Given the description of an element on the screen output the (x, y) to click on. 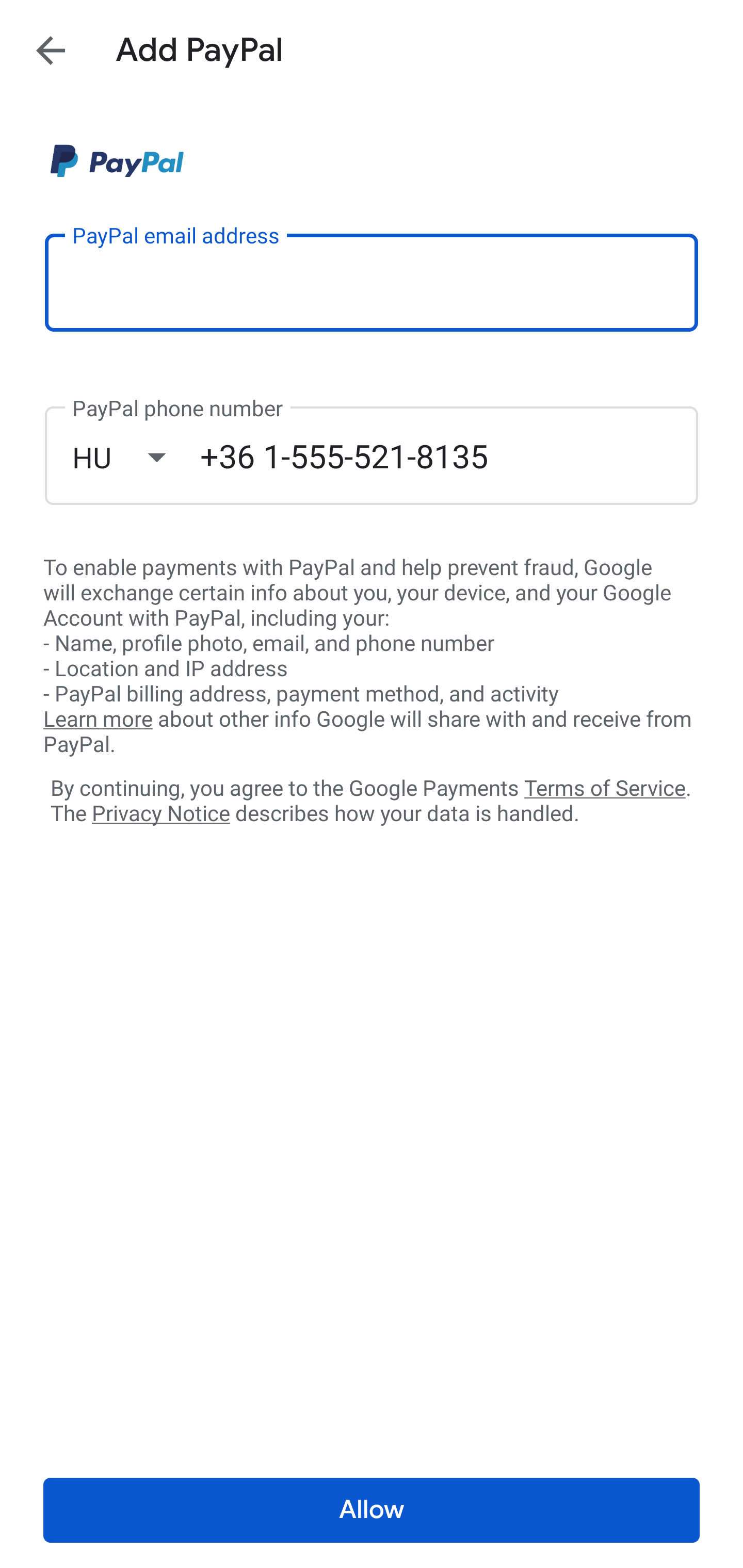
Navigate up (50, 50)
PayPal email address (371, 282)
HU (135, 456)
Learn more (97, 719)
Terms of Service (604, 787)
Privacy Notice (160, 814)
Allow (371, 1510)
